Given the description of an element on the screen output the (x, y) to click on. 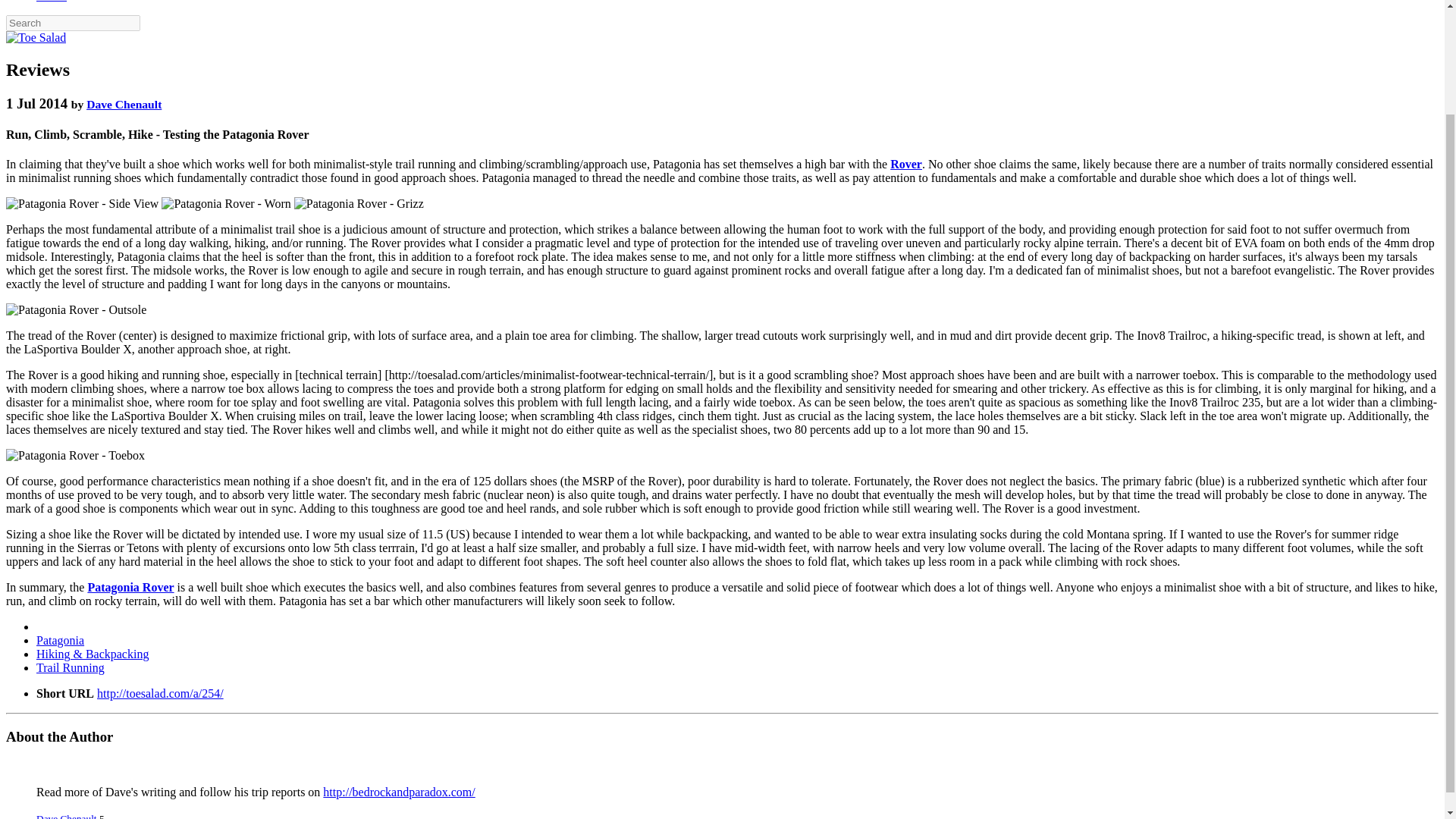
Patagonia Rover - Outsole (76, 309)
Rover (905, 164)
About (51, 1)
Patagonia Rover - Side View (81, 203)
Patagonia (60, 640)
Toe Salad (35, 38)
Patagonia Rover - Worn (225, 203)
Patagonia Rover - Grizz (358, 203)
Patagonia Rover - Toebox (74, 455)
Patagonia Rover (130, 586)
Dave Chenault (123, 103)
Trail Running (70, 667)
